Given the description of an element on the screen output the (x, y) to click on. 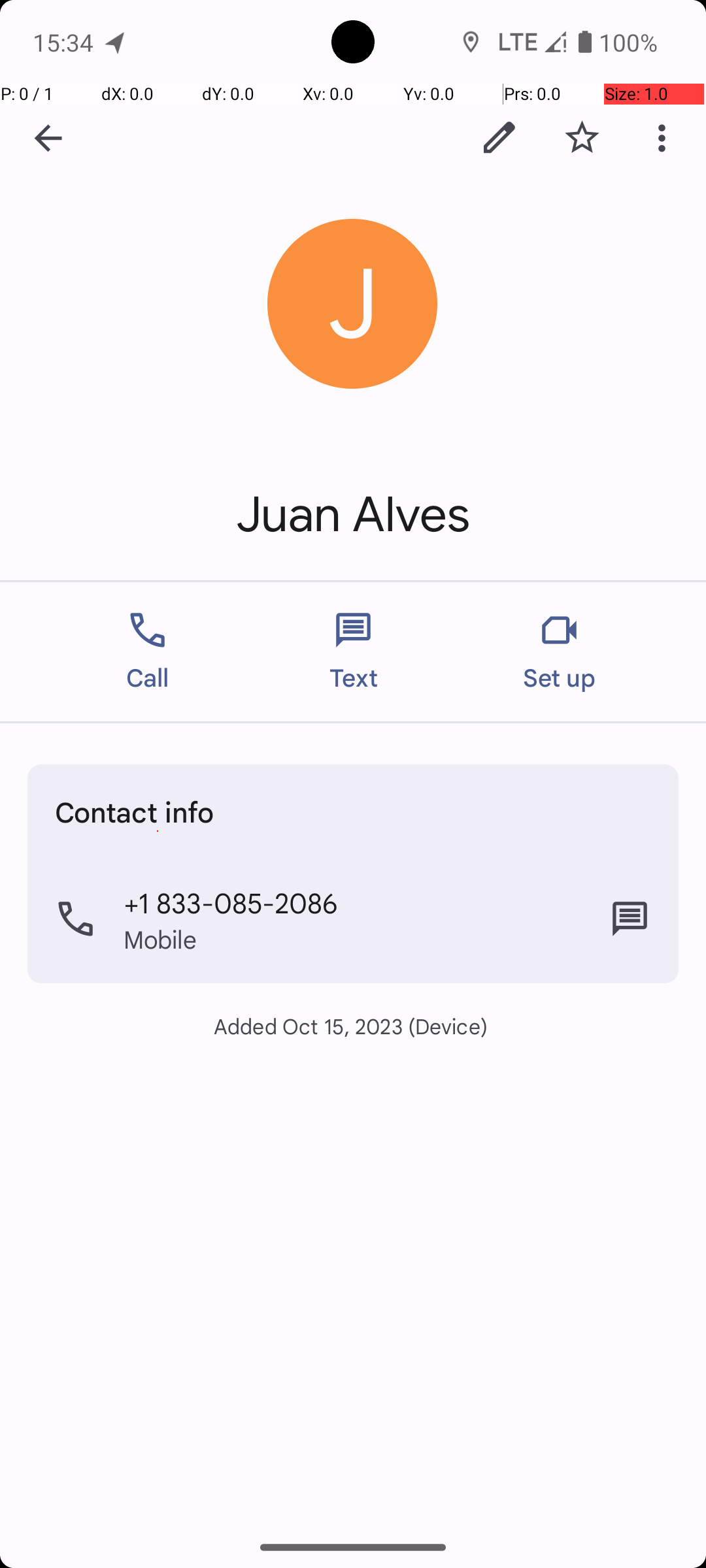
Contact photo Element type: android.widget.ImageView (352, 303)
Set up Element type: android.widget.TextView (559, 651)
Juan Alves Element type: android.widget.TextView (352, 514)
Contact info Element type: android.widget.TextView (134, 811)
Call Mobile +1 833-085-2086 Element type: android.widget.RelativeLayout (352, 919)
Added Oct 15, 2023 (Device)  Element type: android.widget.TextView (352, 1025)
+1 833-085-2086 Element type: android.widget.TextView (230, 901)
Text Mobile +1 833-085-2086 Element type: android.widget.Button (629, 919)
